Given the description of an element on the screen output the (x, y) to click on. 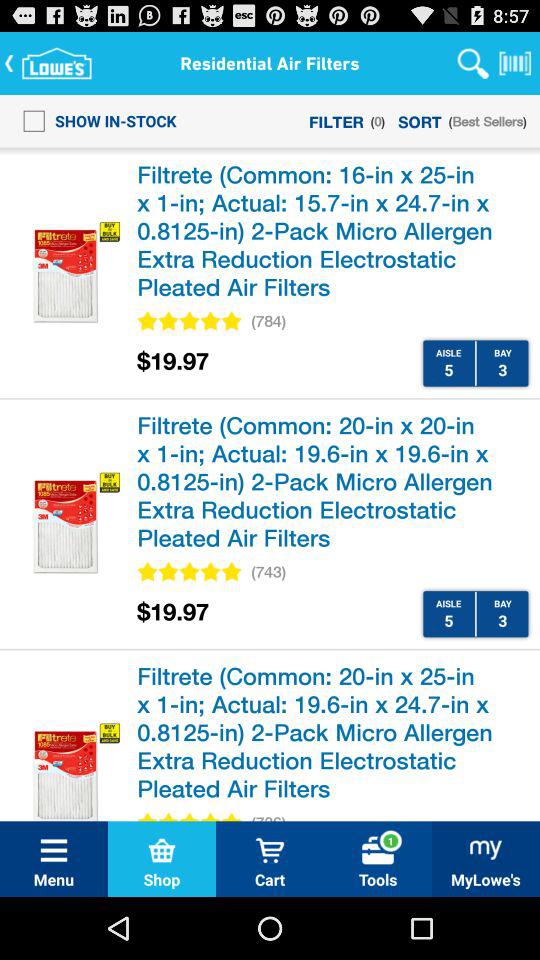
swipe to the (736) item (268, 815)
